Given the description of an element on the screen output the (x, y) to click on. 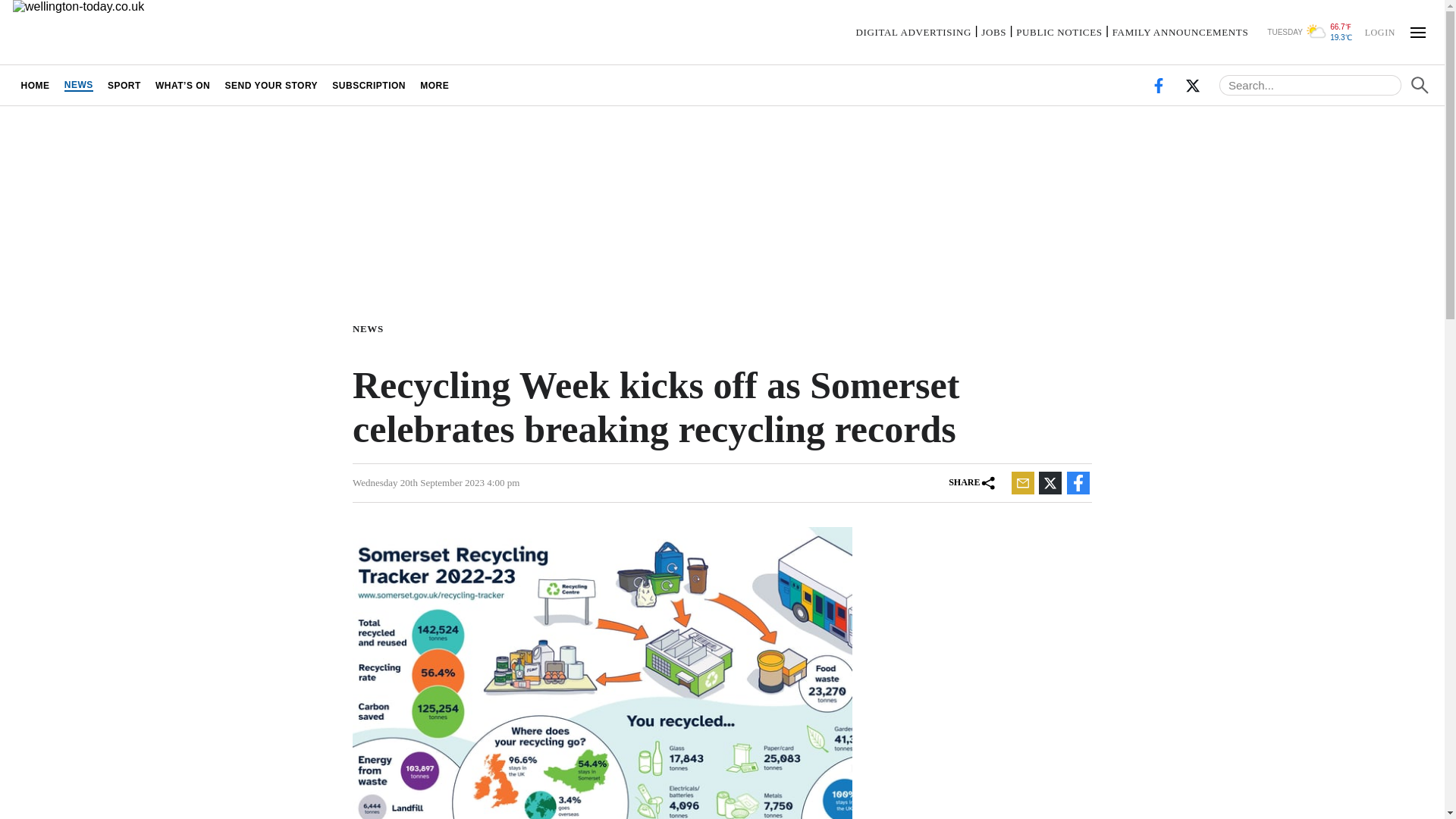
SPORT (124, 85)
FAMILY ANNOUNCEMENTS (1180, 32)
MORE (435, 85)
LOGIN (1379, 31)
NEWS (78, 85)
SEND YOUR STORY (270, 85)
HOME (34, 85)
NEWS (371, 328)
SUBSCRIPTION (368, 85)
